Given the description of an element on the screen output the (x, y) to click on. 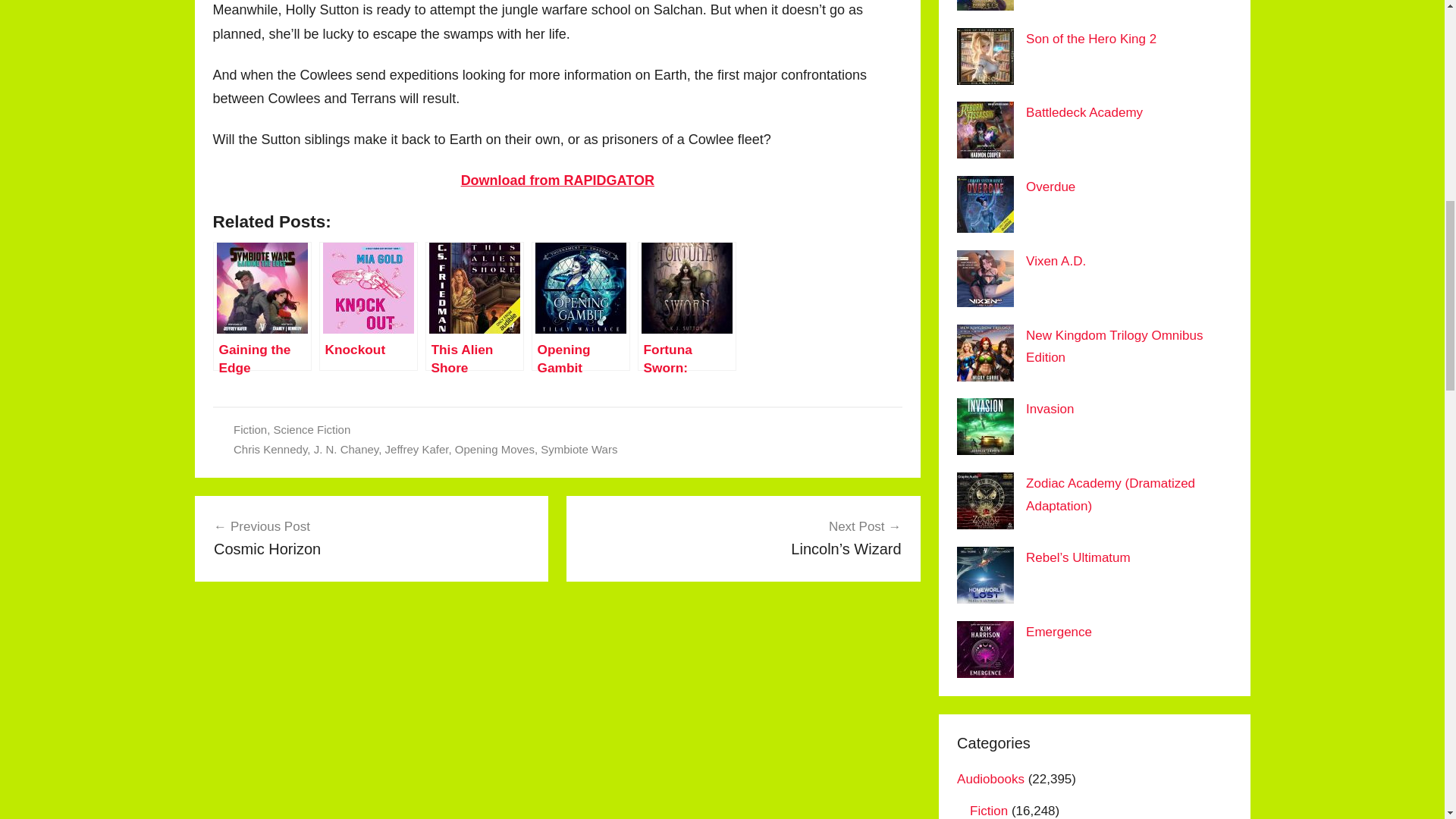
Vixen A.D. (1056, 260)
Chris Kennedy (269, 449)
Download from RAPIDGATOR (557, 180)
Overdue (371, 537)
Opening Moves (1050, 186)
New Kingdom Trilogy Omnibus Edition (494, 449)
Symbiote Wars (1114, 346)
Battledeck Academy (578, 449)
Jeffrey Kafer (1084, 112)
Science Fiction (416, 449)
Son of the Hero King 2 (311, 429)
J. N. Chaney (1091, 38)
Fiction (346, 449)
